Given the description of an element on the screen output the (x, y) to click on. 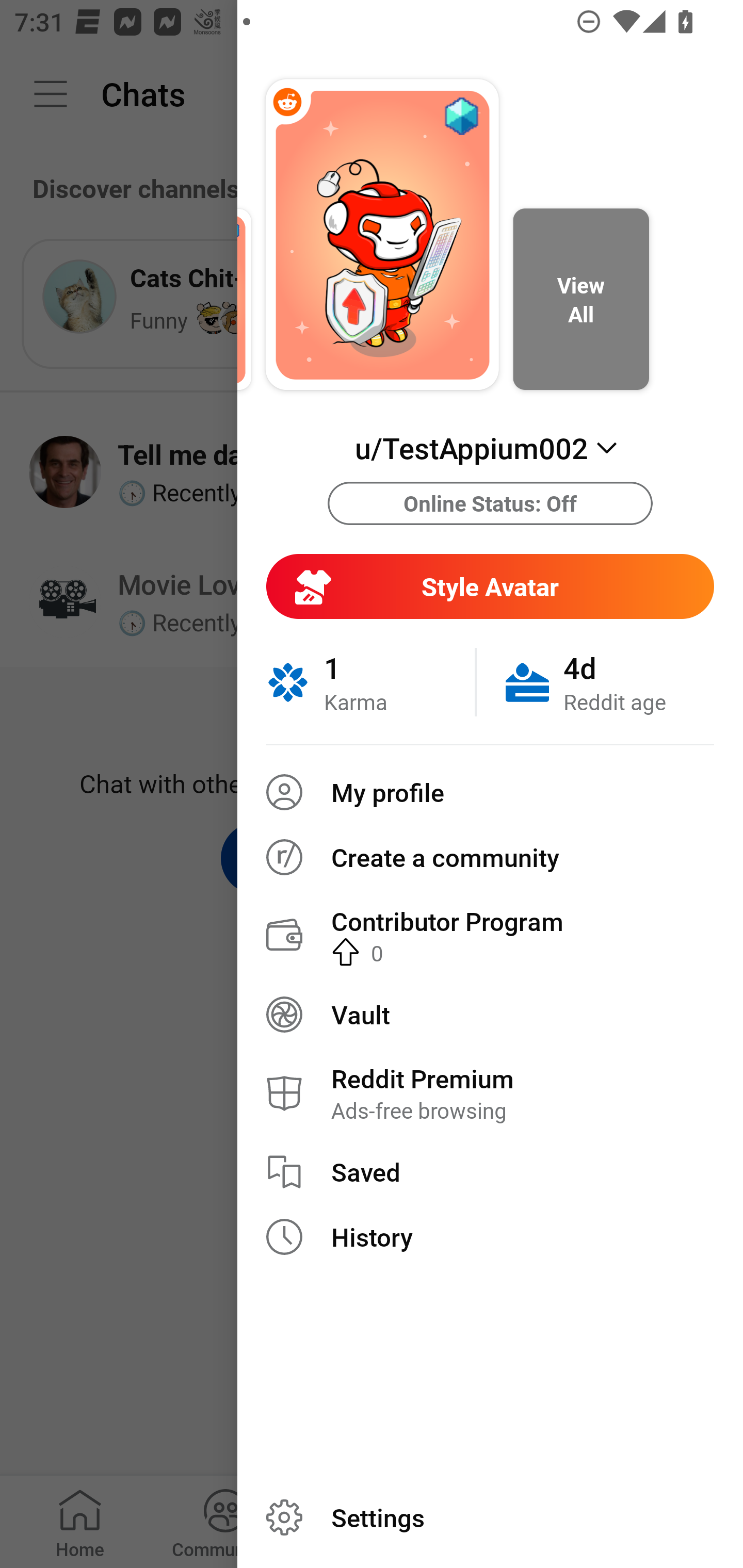
u/TestAppium002 (489, 447)
Online Status: Off (489, 503)
Style Avatar (489, 586)
1 Karma 1 Karma (369, 681)
My profile (490, 792)
Create a community (490, 856)
Contributor Program Contributor Program 0 (490, 935)
Vault (490, 1014)
Saved (490, 1171)
History (490, 1237)
Settings (490, 1517)
